Given the description of an element on the screen output the (x, y) to click on. 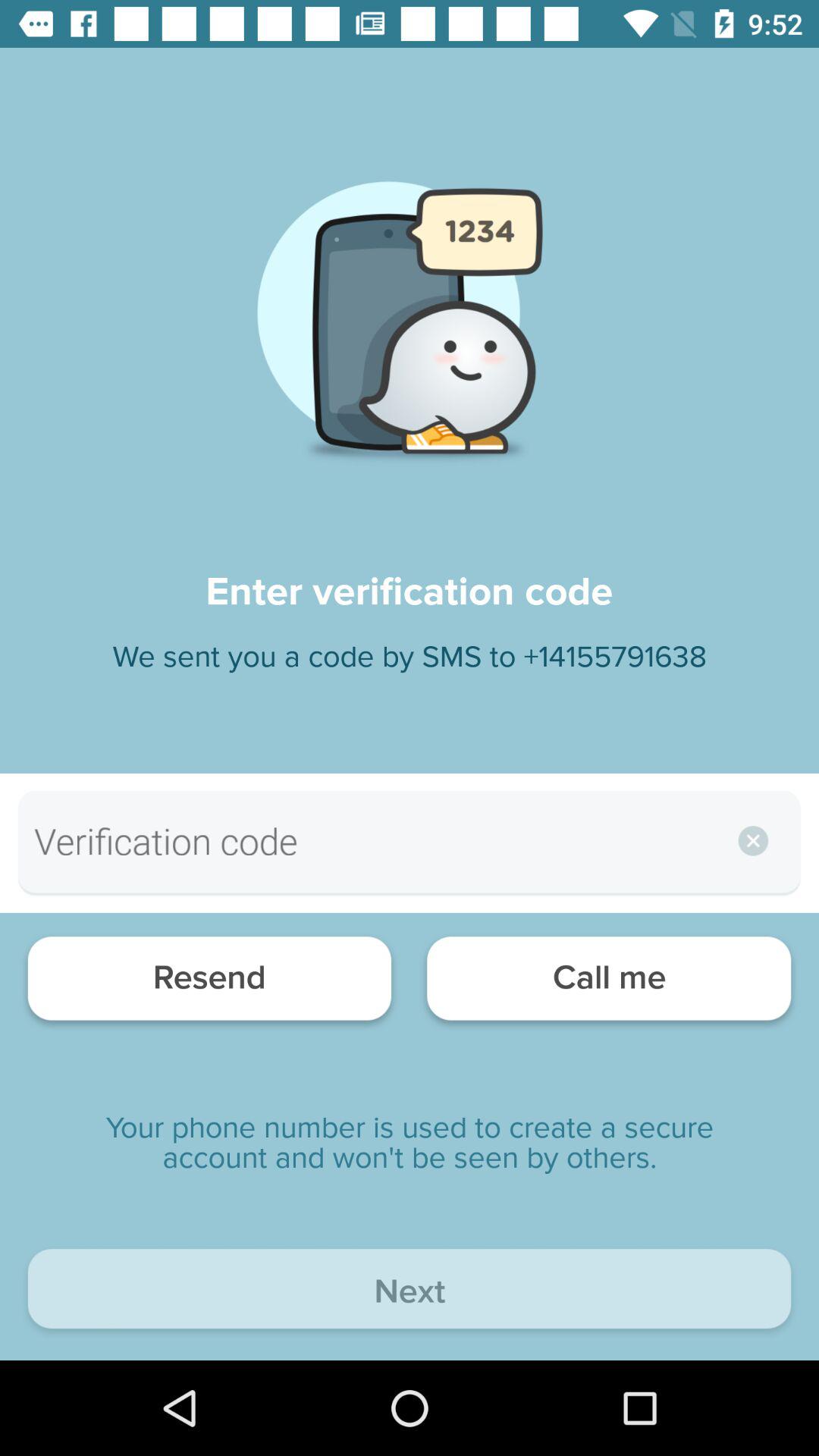
tap item next to the resend icon (609, 982)
